Given the description of an element on the screen output the (x, y) to click on. 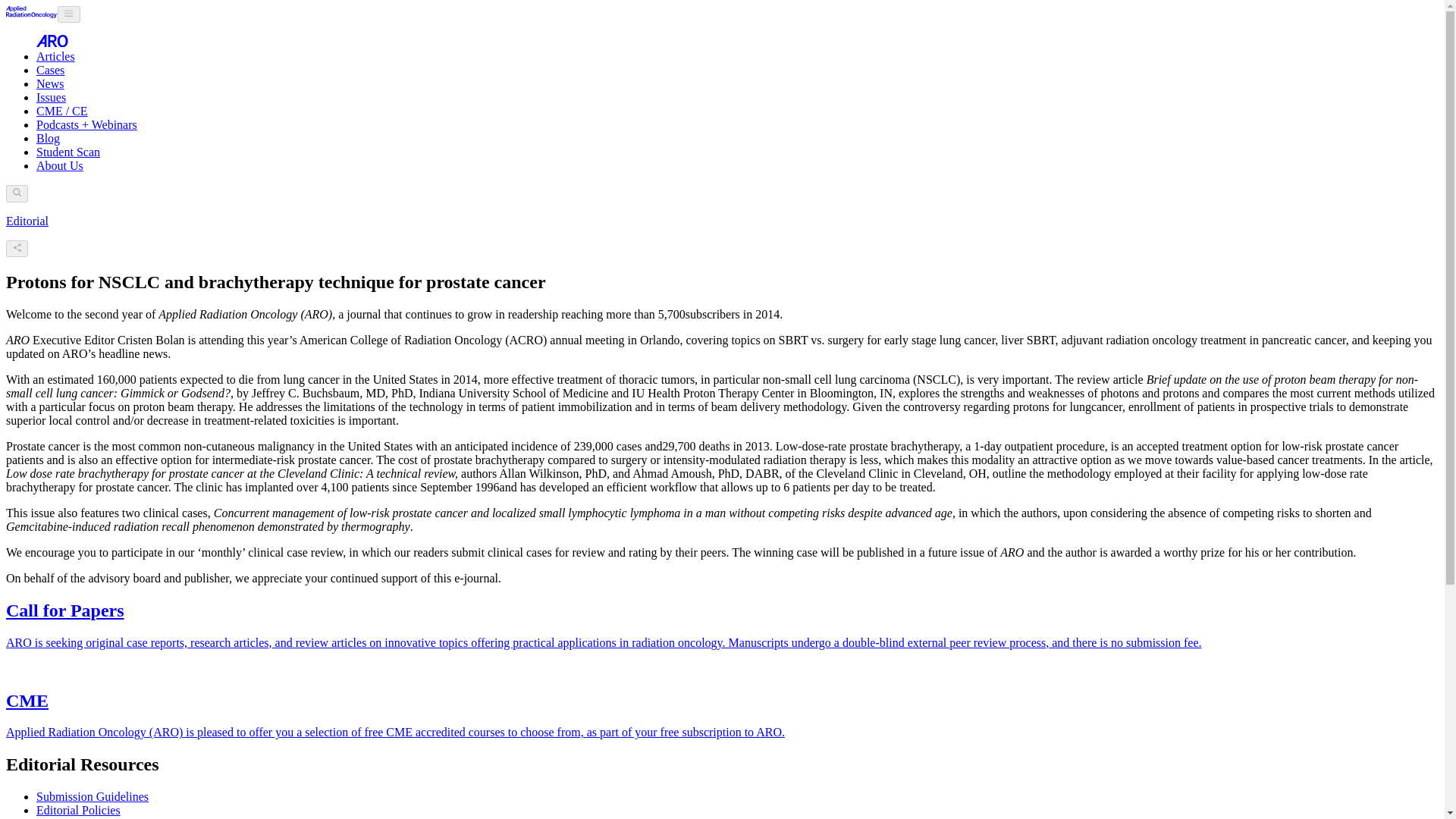
News (50, 83)
About Us (59, 164)
News (50, 83)
Editorial (26, 220)
Student Scan (68, 151)
Editorial Policies (78, 809)
Blog (47, 137)
Cases (50, 69)
Cases (50, 69)
About Us (59, 164)
